Given the description of an element on the screen output the (x, y) to click on. 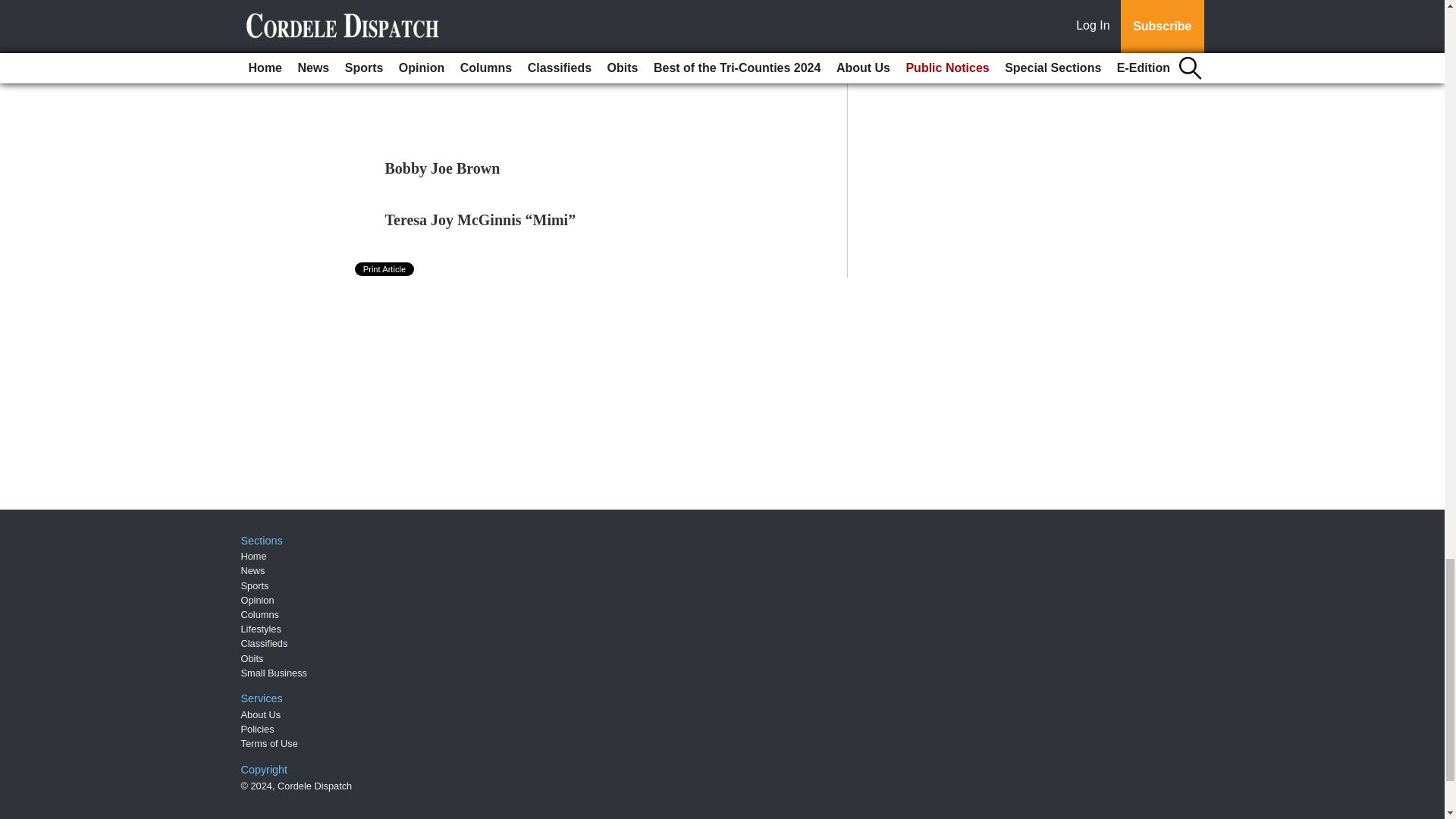
Columns (260, 614)
Bobby Joe Brown (442, 167)
Lifestyles (261, 628)
Home (253, 555)
Sports (255, 585)
Opinion (258, 600)
Print Article (384, 269)
News (252, 570)
Bobby Joe Brown (442, 167)
